Given the description of an element on the screen output the (x, y) to click on. 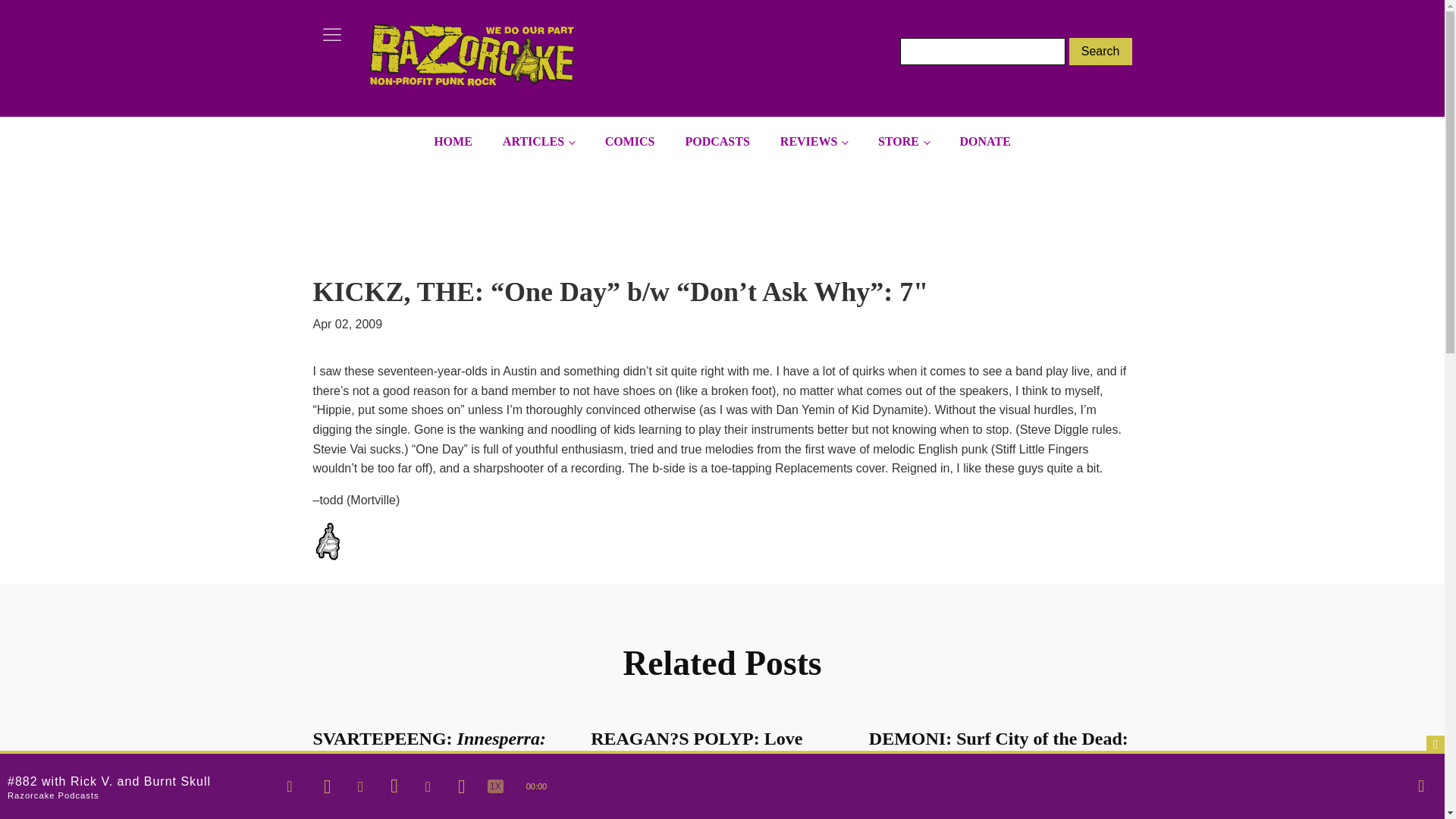
PODCASTS (716, 142)
Volume (1420, 786)
Search (1100, 51)
COMICS (629, 142)
HOME (453, 142)
Search (1100, 51)
ARTICLES (538, 142)
